Given the description of an element on the screen output the (x, y) to click on. 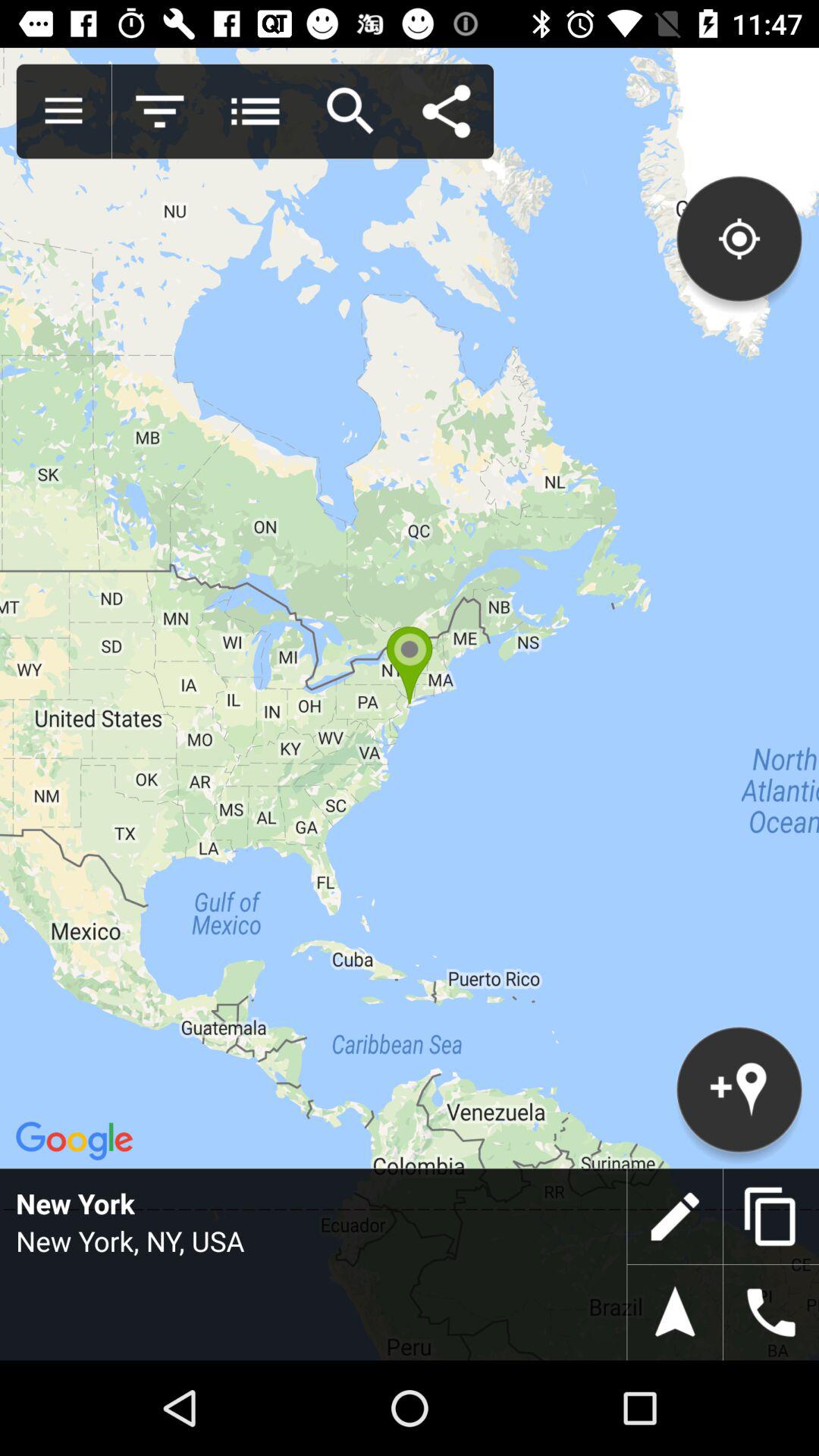
expand menu options (63, 111)
